Given the description of an element on the screen output the (x, y) to click on. 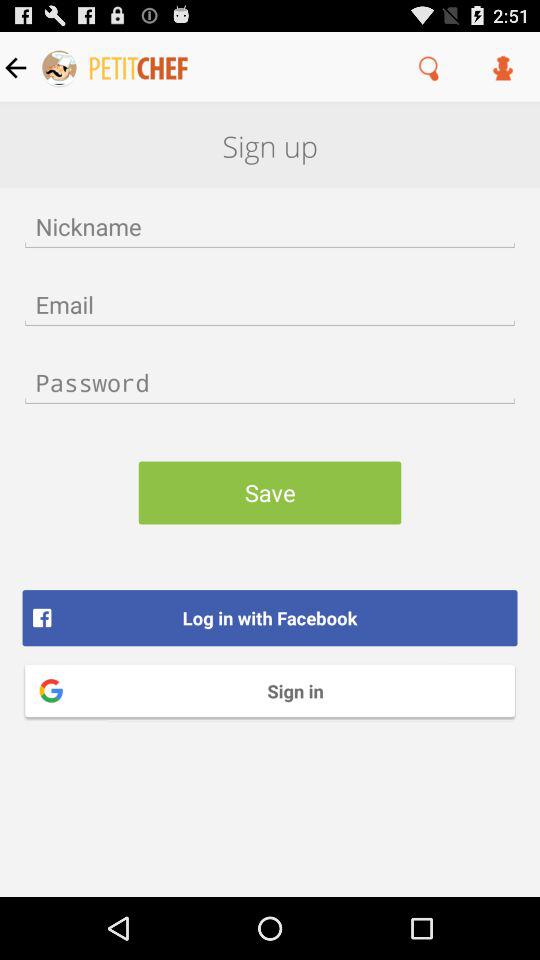
turn off the save item (269, 492)
